Given the description of an element on the screen output the (x, y) to click on. 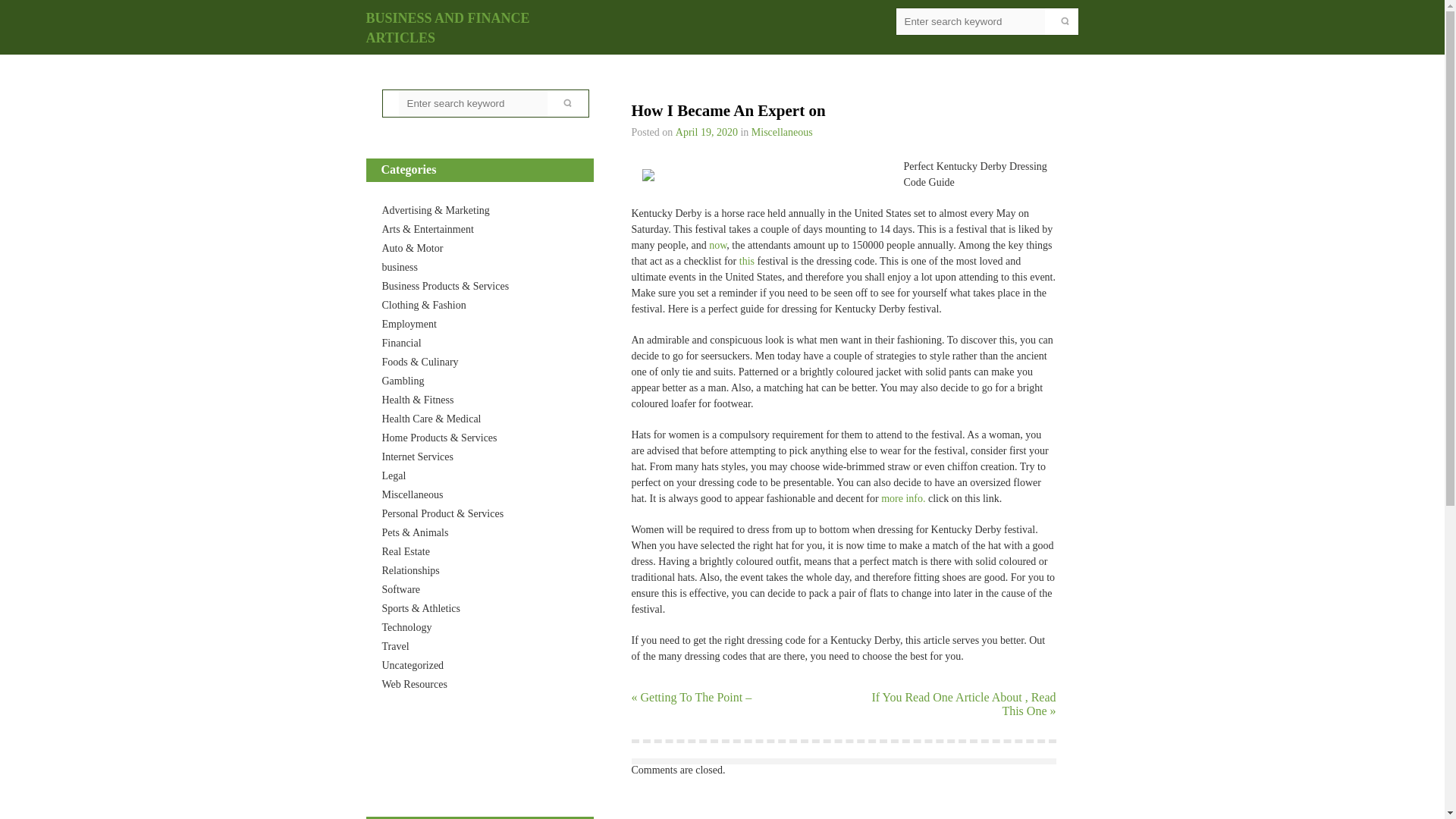
Financial (401, 342)
Internet Services (416, 456)
Software (400, 589)
Technology (406, 627)
Legal (393, 475)
Uncategorized (412, 665)
Gambling (403, 380)
business (399, 266)
Employment (408, 324)
Web Resources (413, 684)
